Given the description of an element on the screen output the (x, y) to click on. 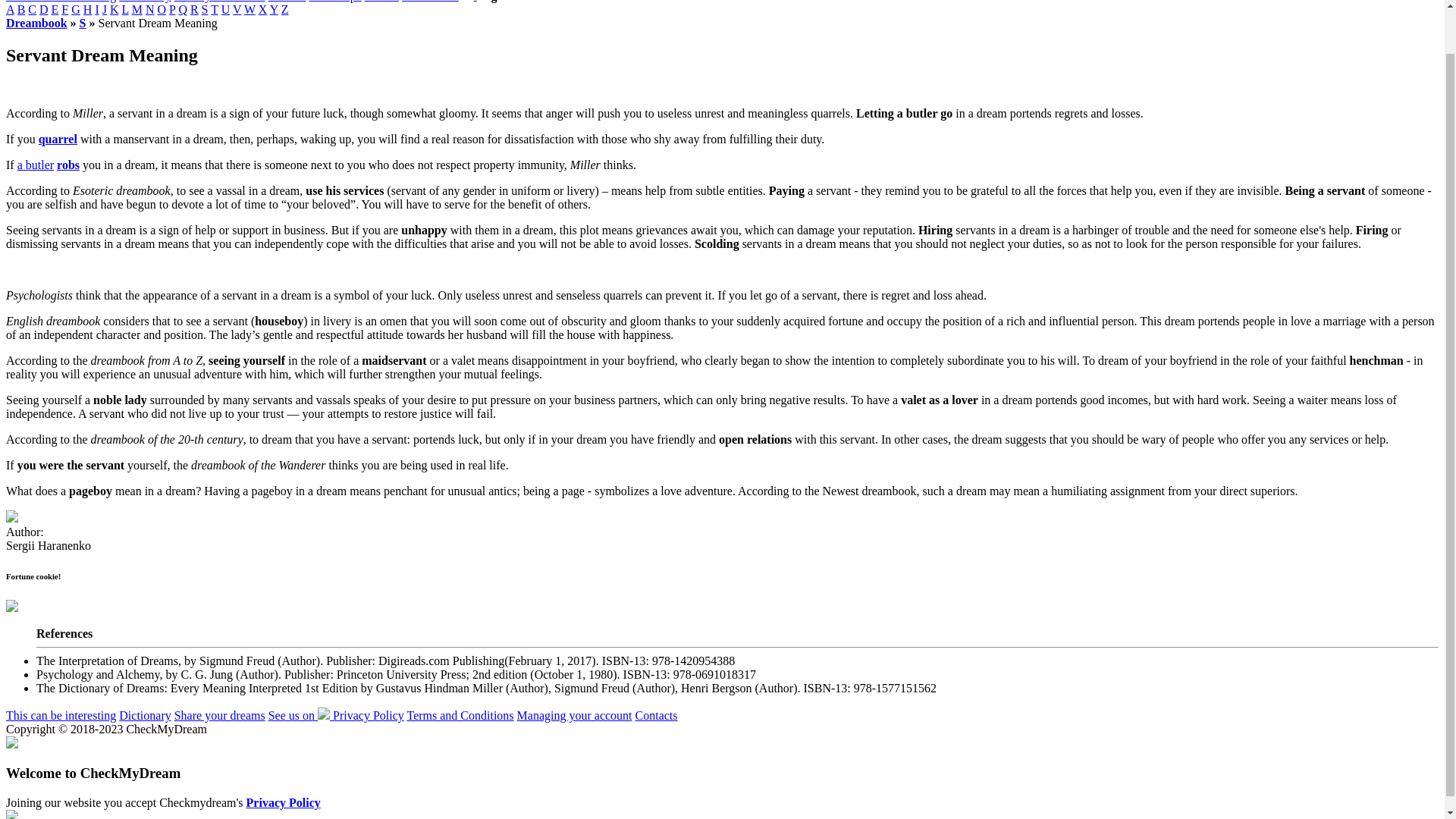
Know-it-all (429, 1)
robs (68, 164)
quarrel (58, 138)
a butler (35, 164)
Omens (381, 1)
Share your dreams (219, 1)
This can be interesting (60, 1)
Dictionary (144, 1)
Cabinet (286, 1)
Dreambook (35, 22)
